Given the description of an element on the screen output the (x, y) to click on. 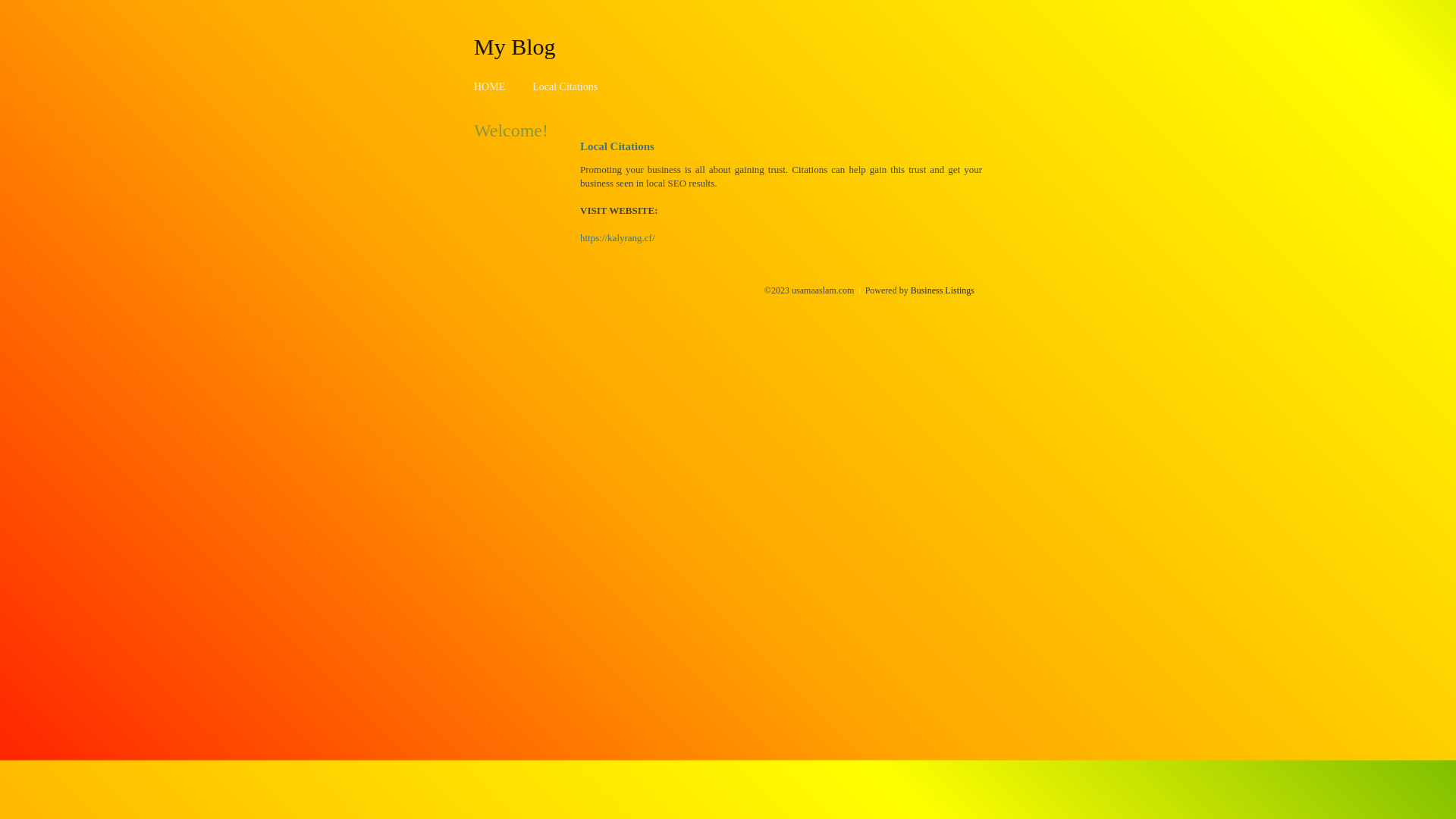
HOME Element type: text (489, 86)
My Blog Element type: text (514, 46)
Business Listings Element type: text (942, 290)
Local Citations Element type: text (564, 86)
https://kalyrang.cf/ Element type: text (617, 237)
